Given the description of an element on the screen output the (x, y) to click on. 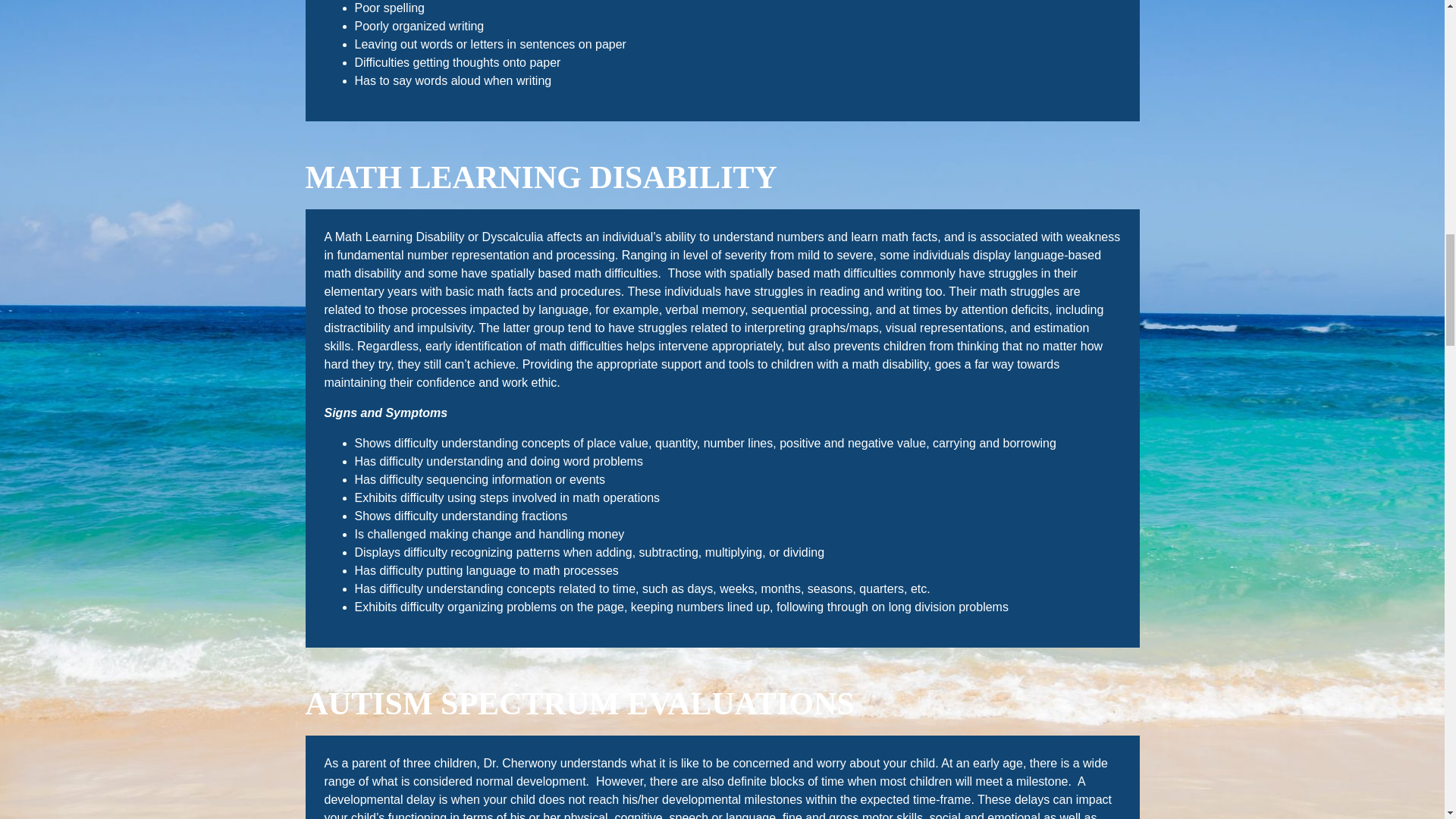
AUTISM SPECTRUM EVALUATIONS (578, 703)
MATH LEARNING DISABILITY (540, 176)
